Given the description of an element on the screen output the (x, y) to click on. 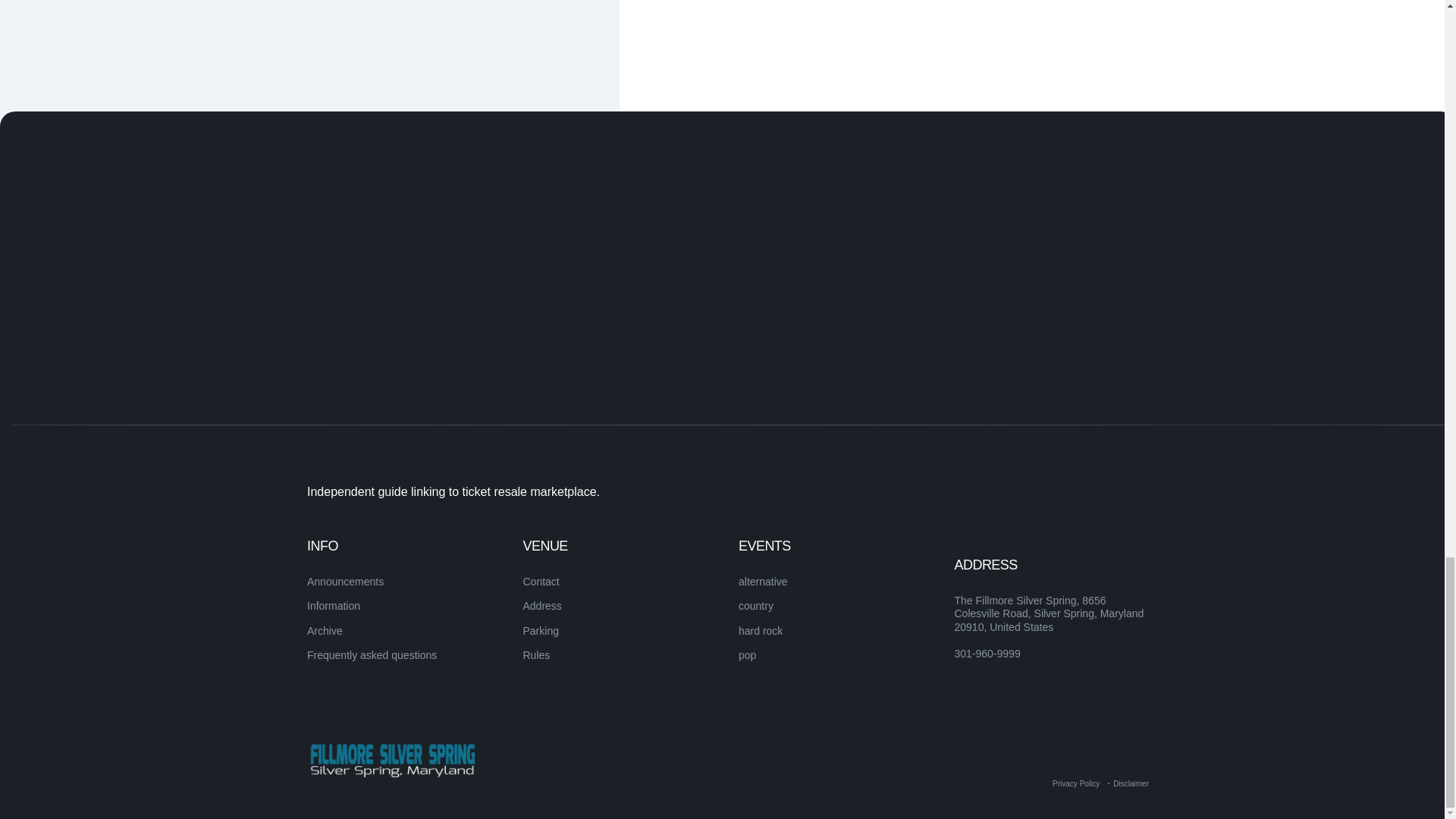
Contact (540, 581)
Address (542, 605)
Frequently asked questions (371, 654)
Announcements (345, 581)
SUBSCRIBE (1095, 574)
Archive (324, 630)
Information (333, 605)
